Given the description of an element on the screen output the (x, y) to click on. 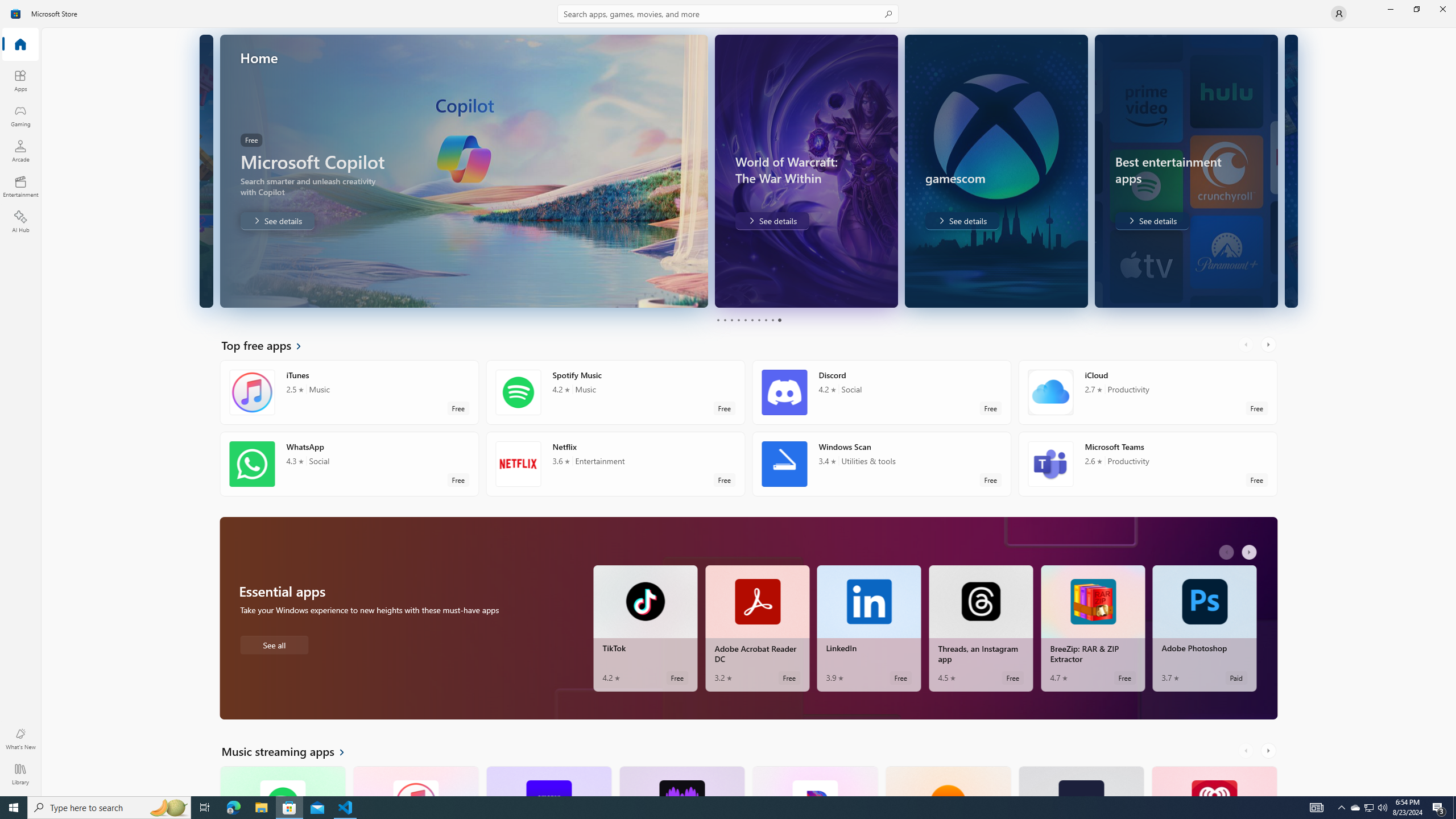
iCloud. Average rating of 2.7 out of five stars. Free   (1146, 392)
Close Microsoft Store (1442, 9)
Page 2 (724, 319)
Page 3 (731, 319)
gamescom. See the best of the show.  . See details (773, 221)
